Given the description of an element on the screen output the (x, y) to click on. 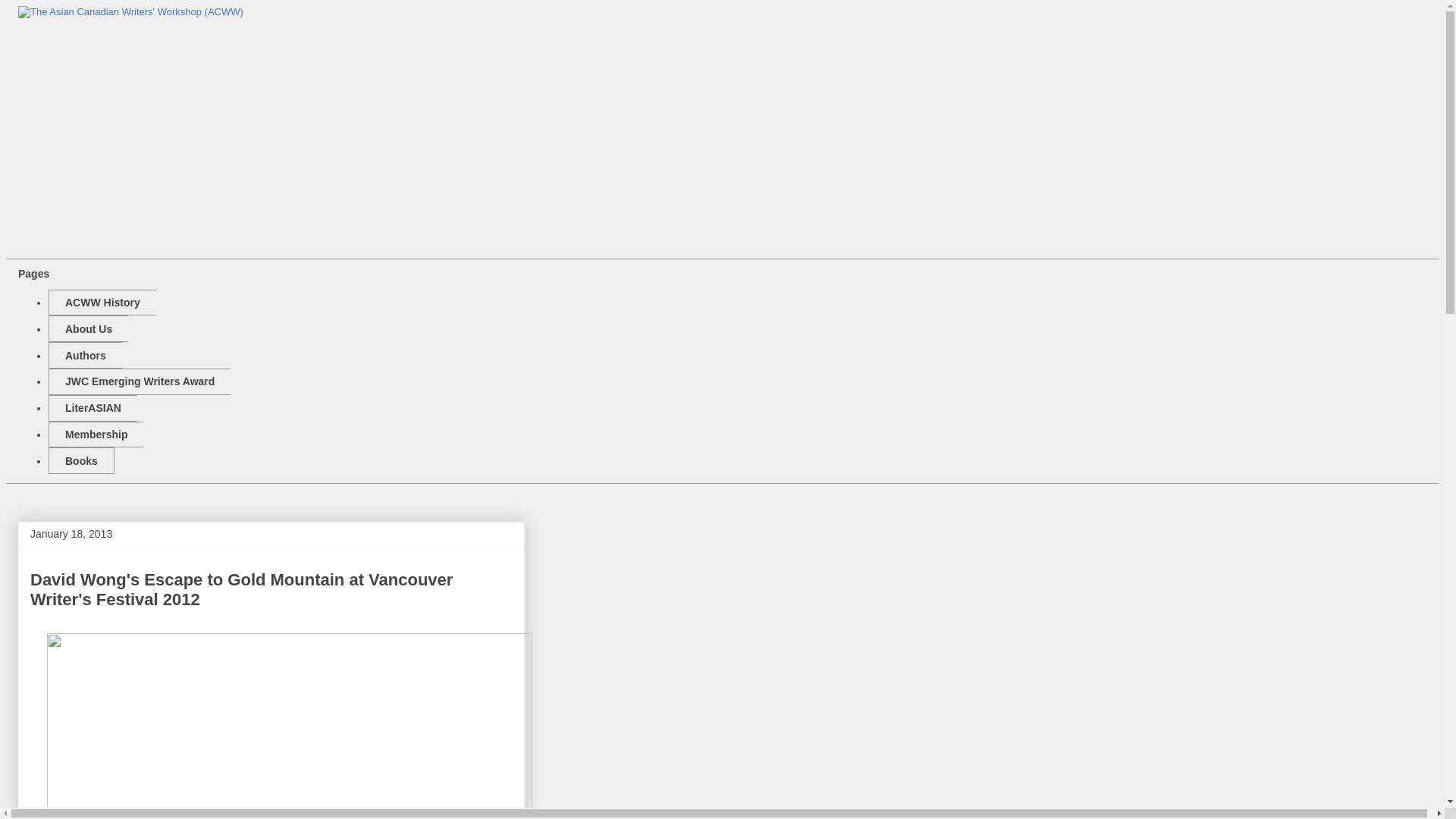
Books (81, 460)
JWC Emerging Writers Award (139, 381)
LiterASIAN (92, 407)
Membership (95, 434)
About Us (88, 328)
ACWW History (101, 302)
Authors (85, 355)
